Given the description of an element on the screen output the (x, y) to click on. 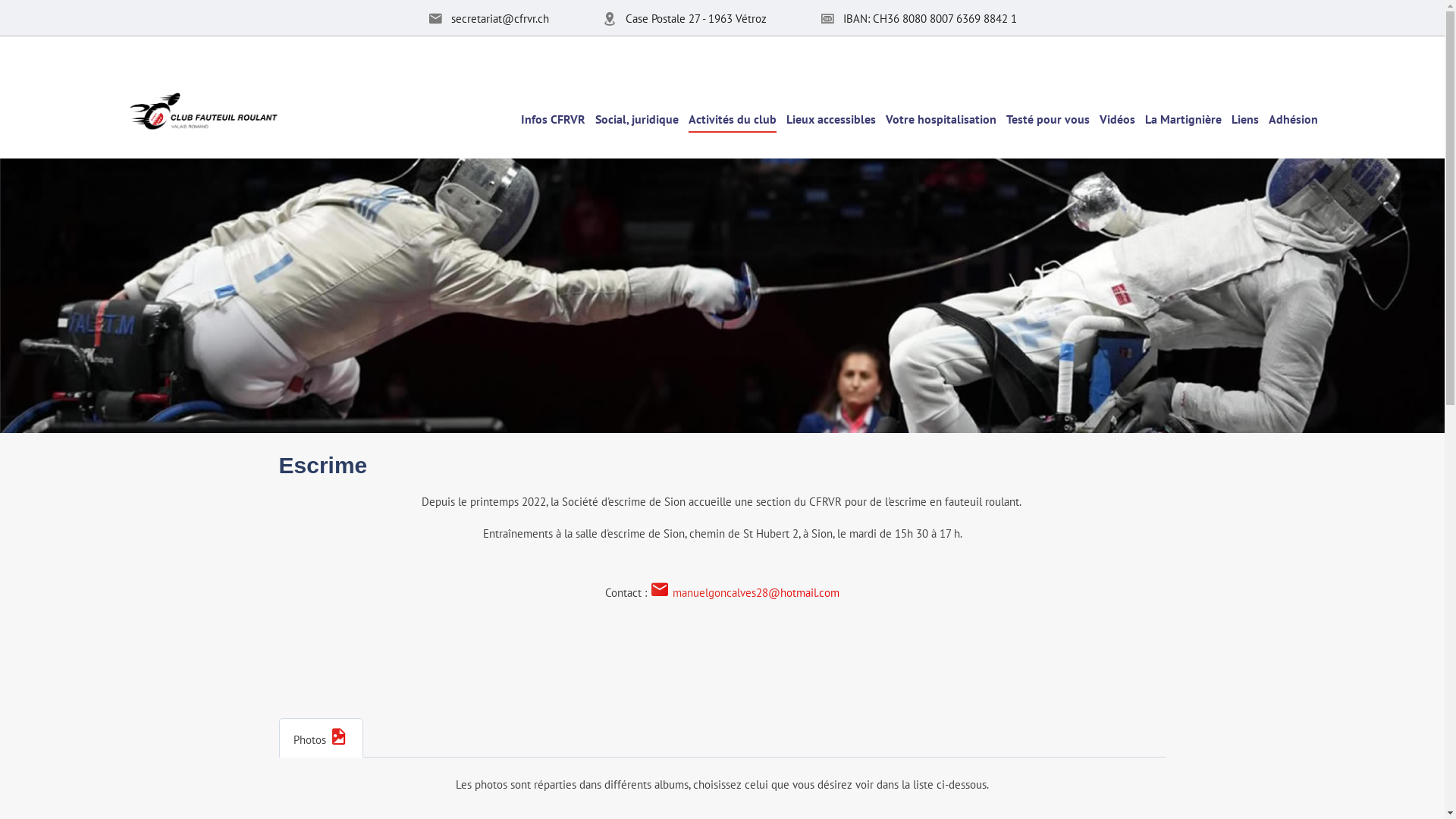
Liens Element type: text (1244, 118)
Photos Element type: text (321, 737)
Lieux accessibles Element type: text (830, 118)
manuelgoncalves28@hotmail.com Element type: text (755, 592)
Social, juridique Element type: text (635, 118)
Infos CFRVR Element type: text (552, 118)
Votre hospitalisation Element type: text (940, 118)
secretariat@cfrvr.ch Element type: text (500, 18)
